Given the description of an element on the screen output the (x, y) to click on. 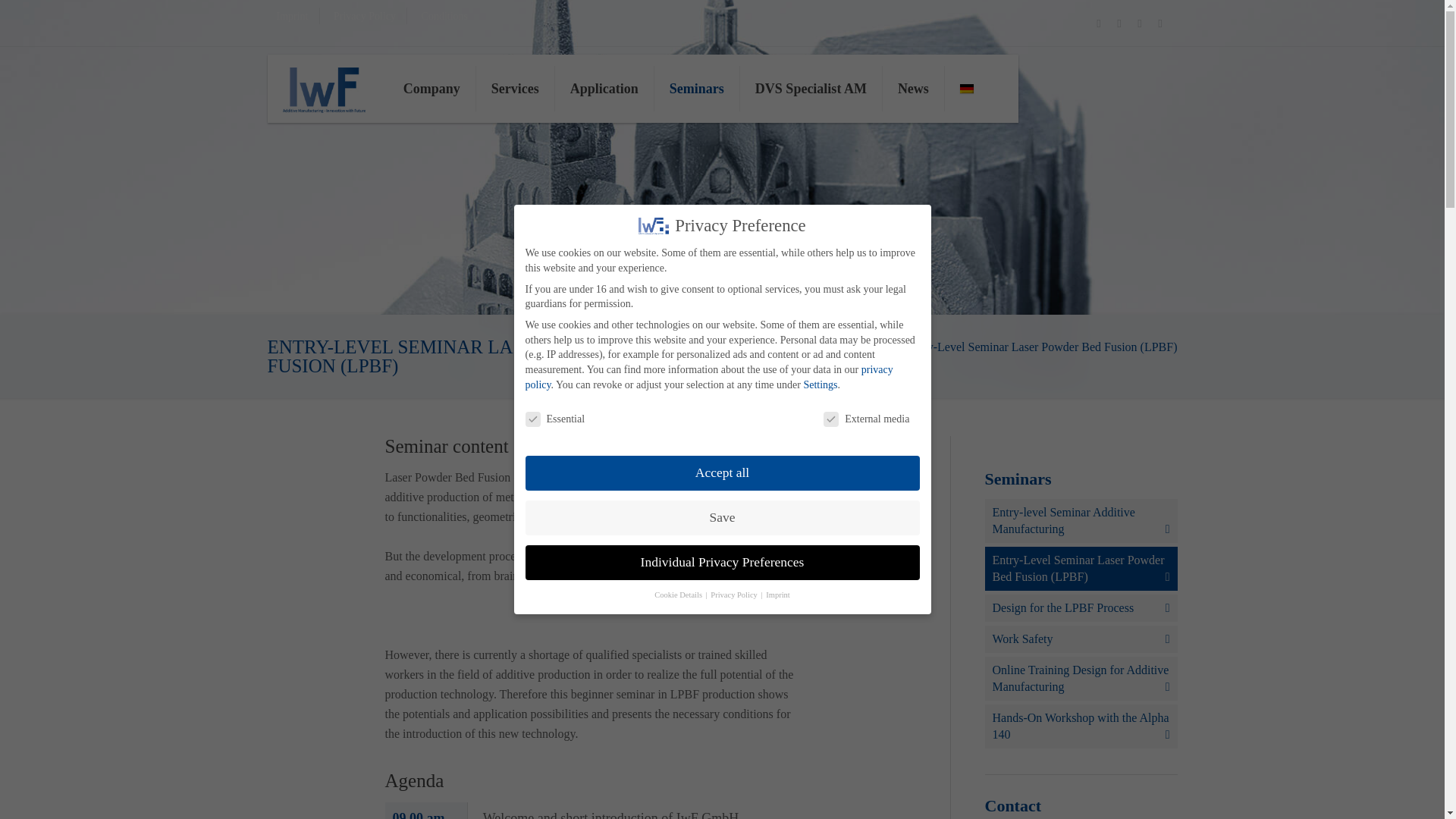
Seminars (696, 88)
Conditions (444, 16)
Imprint (291, 16)
Xing (1139, 23)
Application (603, 88)
DVS Specialist AM (810, 88)
Privacy Policy (364, 16)
Services (515, 88)
Imprint (291, 16)
Instagram (1119, 23)
Services (515, 88)
Privacy Policy (364, 16)
LinkedIn (1098, 23)
Conditions (444, 16)
Company (432, 88)
